Given the description of an element on the screen output the (x, y) to click on. 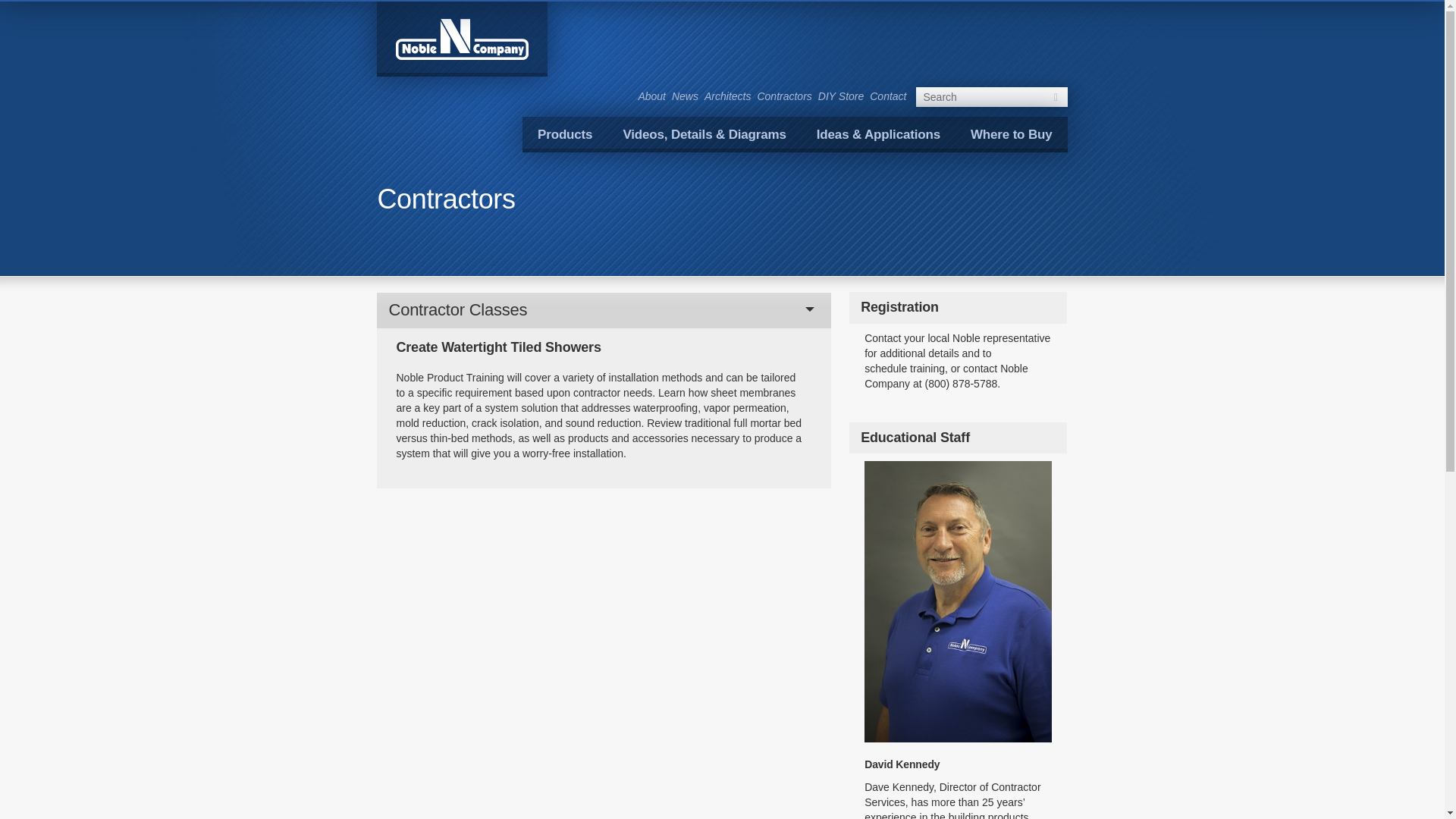
Where to Buy (1011, 134)
Contractors (783, 96)
Contractor Classes (604, 309)
About (651, 96)
Fire Sprinkler (966, 178)
Architects (727, 96)
Products (564, 134)
News (684, 96)
DIY Store (840, 96)
Noble Company (462, 38)
Contact (887, 96)
Plumbing (631, 178)
Tile Installation (468, 178)
